Given the description of an element on the screen output the (x, y) to click on. 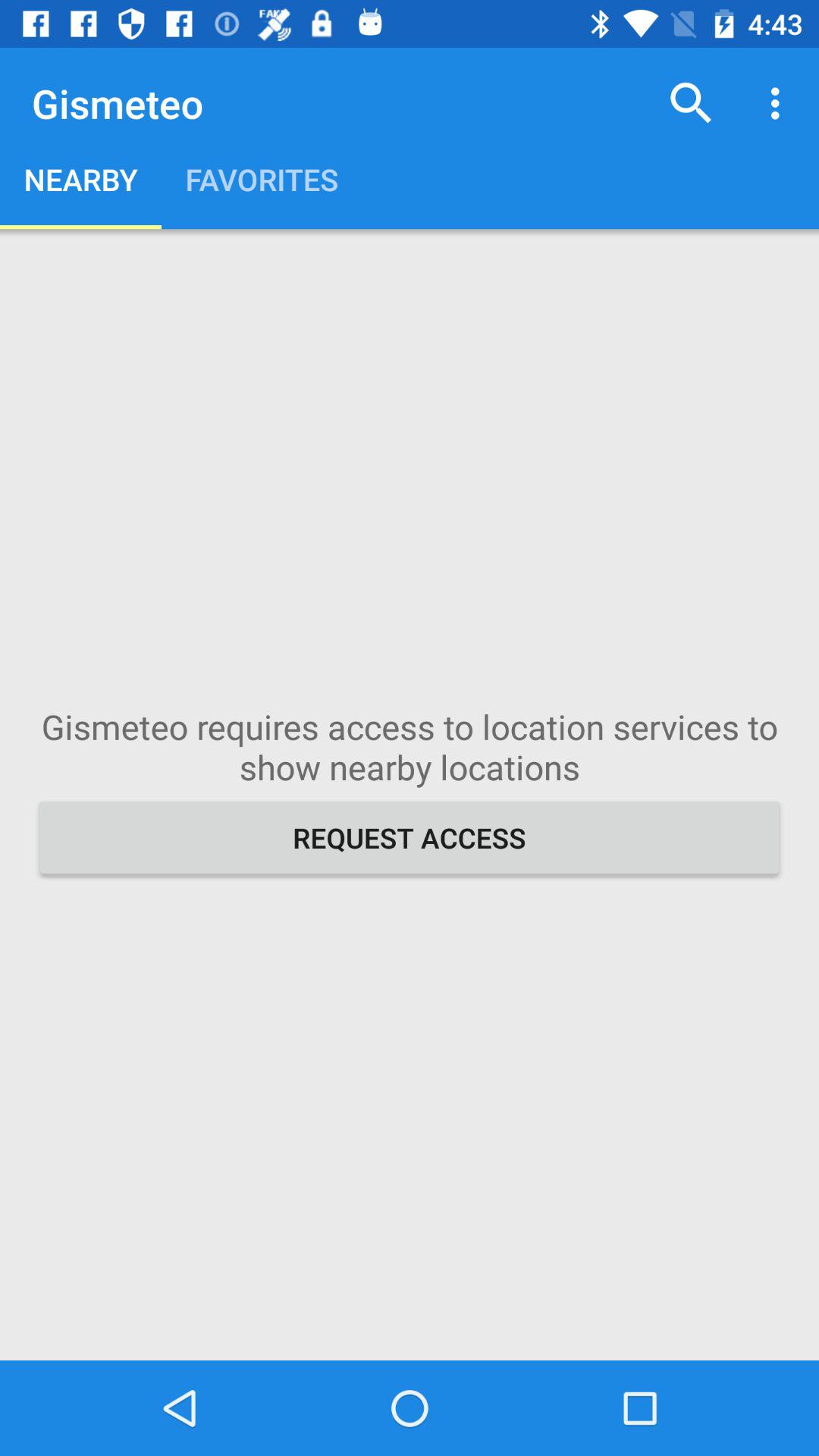
choose the item to the right of the favorites (691, 103)
